Given the description of an element on the screen output the (x, y) to click on. 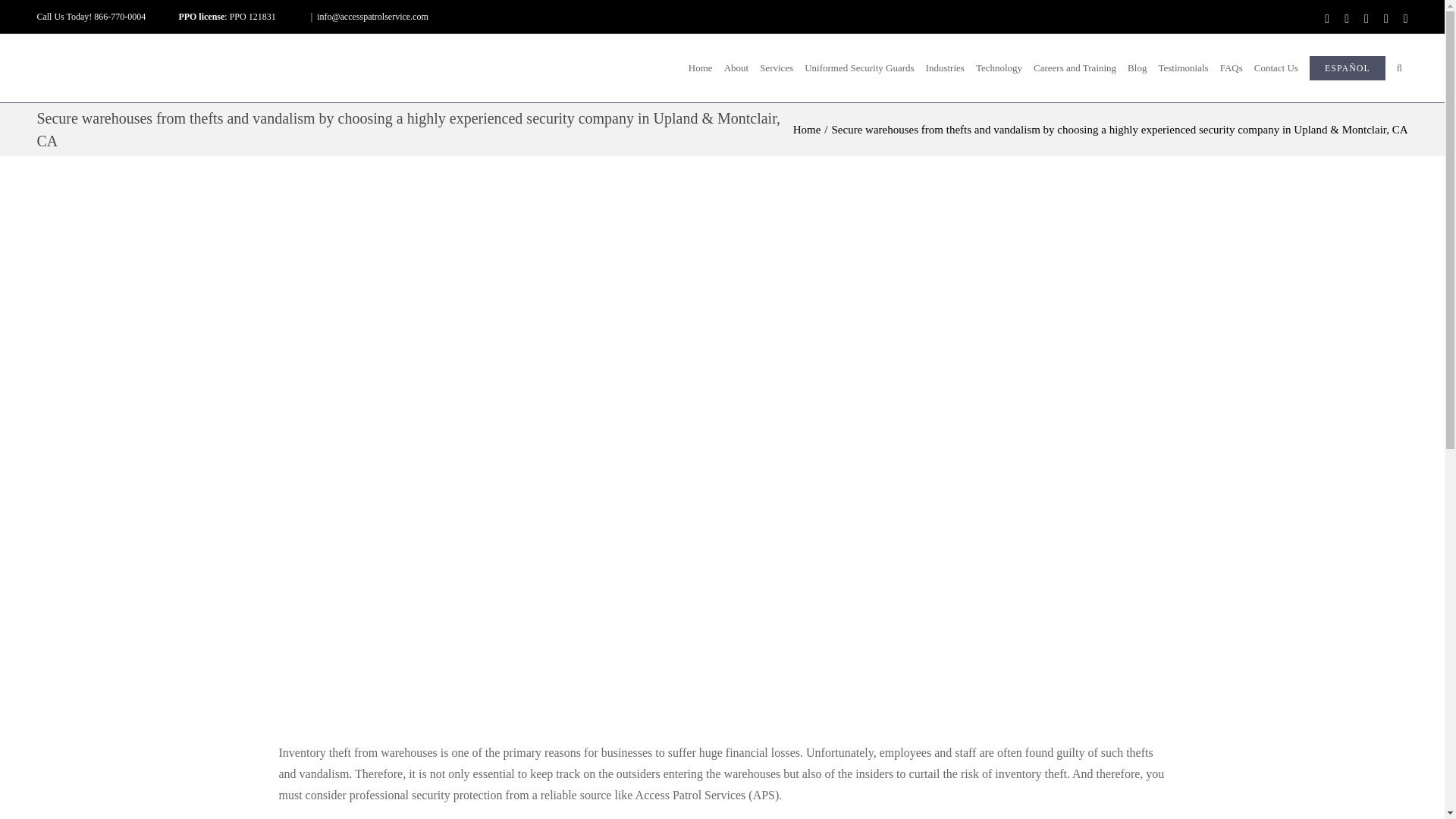
Testimonials (1183, 68)
Careers and Training (1074, 68)
Uniformed Security Guards (859, 68)
Technology (998, 68)
Contact Us (1275, 68)
Industries (944, 68)
Call Us Today! 866-770-0004 (90, 16)
